Given the description of an element on the screen output the (x, y) to click on. 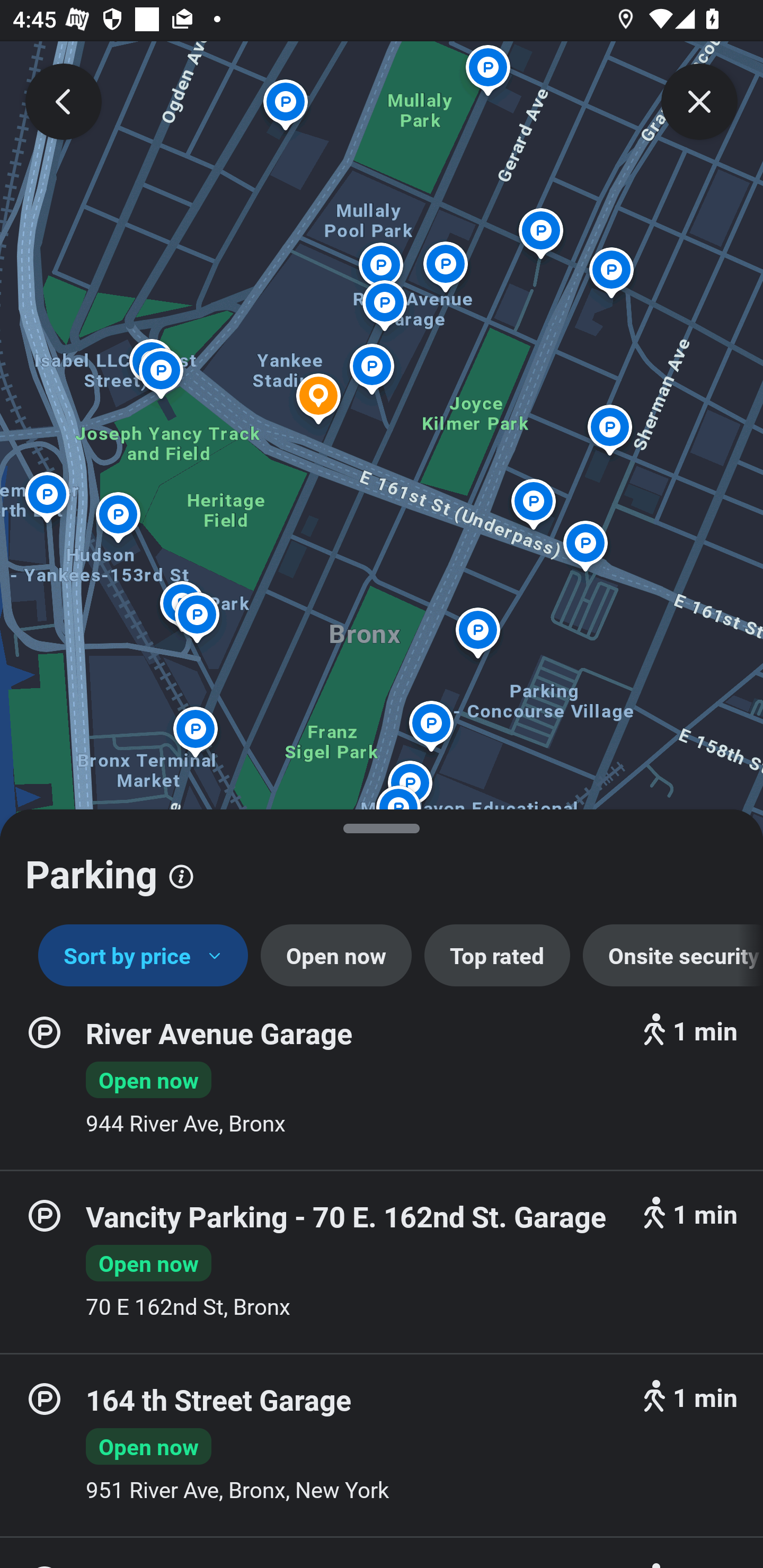
Parking (381, 867)
Sort by price (142, 955)
Open now (336, 955)
Top rated (496, 955)
Onsite security (672, 955)
